Given the description of an element on the screen output the (x, y) to click on. 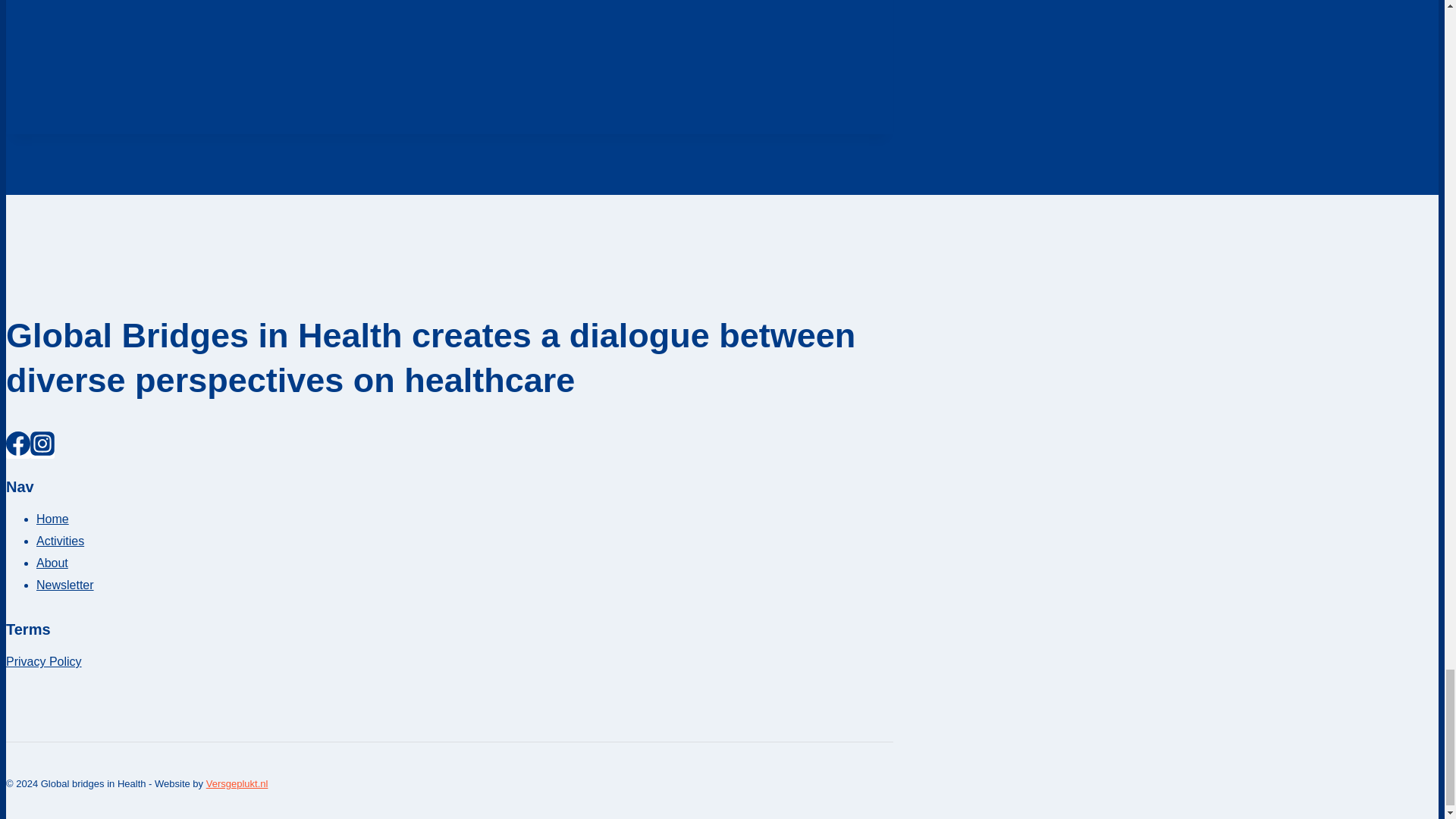
About (52, 562)
Activities (60, 540)
Facebook (17, 449)
Privacy Policy (43, 661)
Home (52, 518)
Facebook (17, 443)
Newsletter (65, 584)
Versgeplukt.nl (236, 783)
Instagram (42, 443)
Instagram (42, 449)
